Given the description of an element on the screen output the (x, y) to click on. 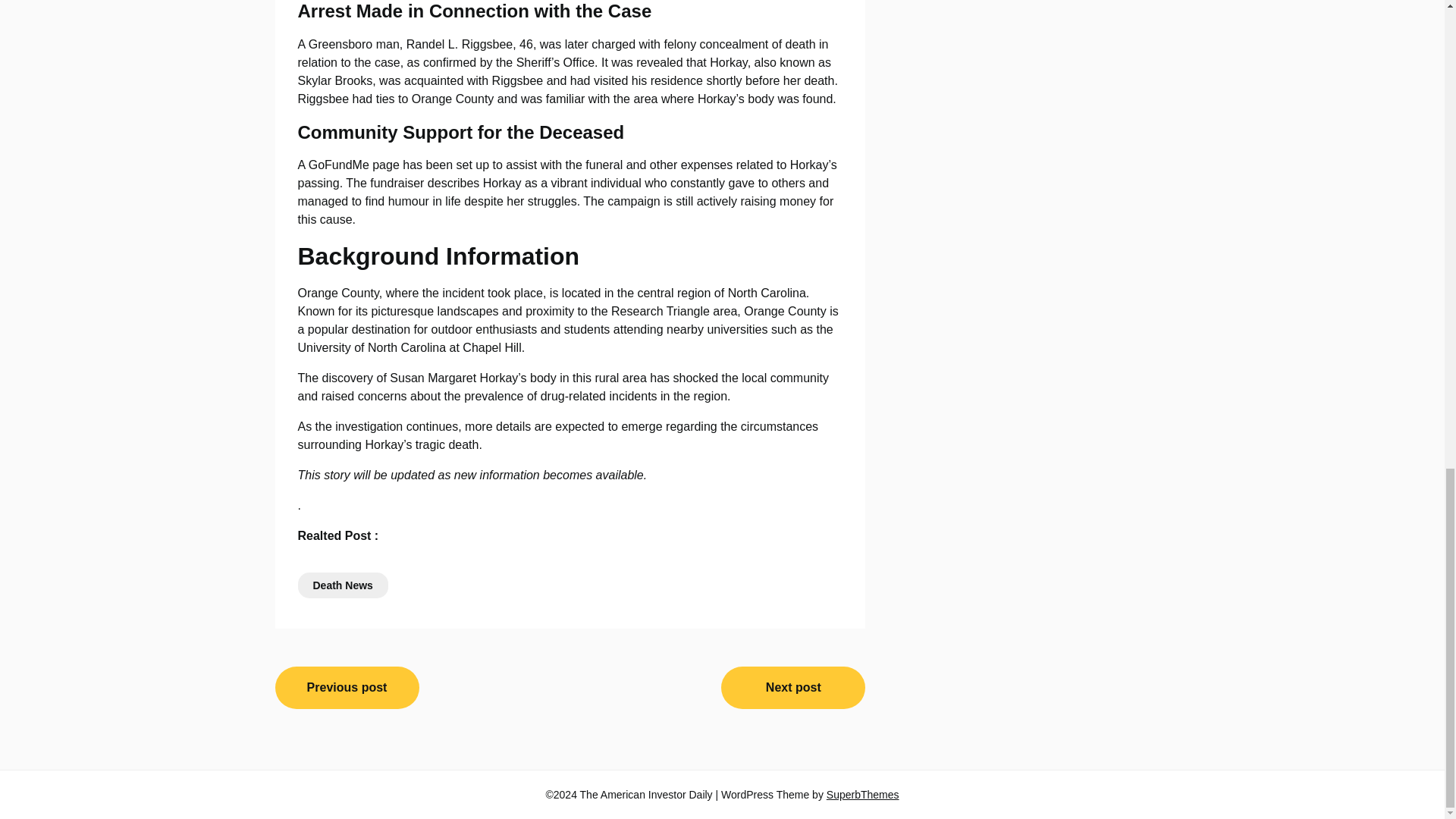
Next post (792, 687)
SuperbThemes (863, 794)
Death News (342, 585)
Previous post (347, 687)
